Given the description of an element on the screen output the (x, y) to click on. 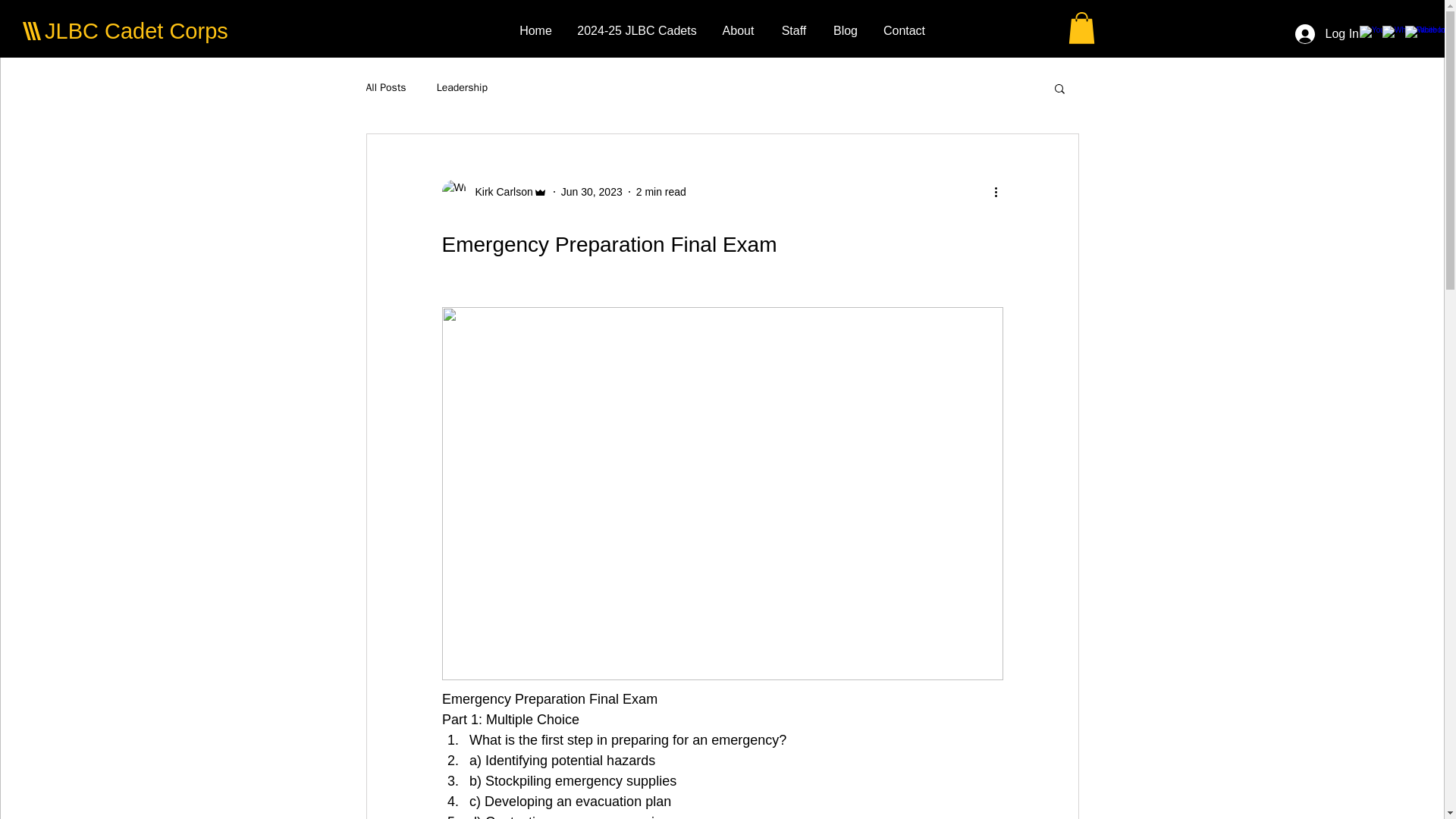
2 min read (660, 191)
About (738, 30)
Kirk Carlson (498, 191)
Leadership (461, 88)
Blog (845, 30)
Contact (903, 30)
Staff (794, 30)
Home (535, 30)
JLBC Cadet Corps (136, 30)
Jun 30, 2023 (591, 191)
